Given the description of an element on the screen output the (x, y) to click on. 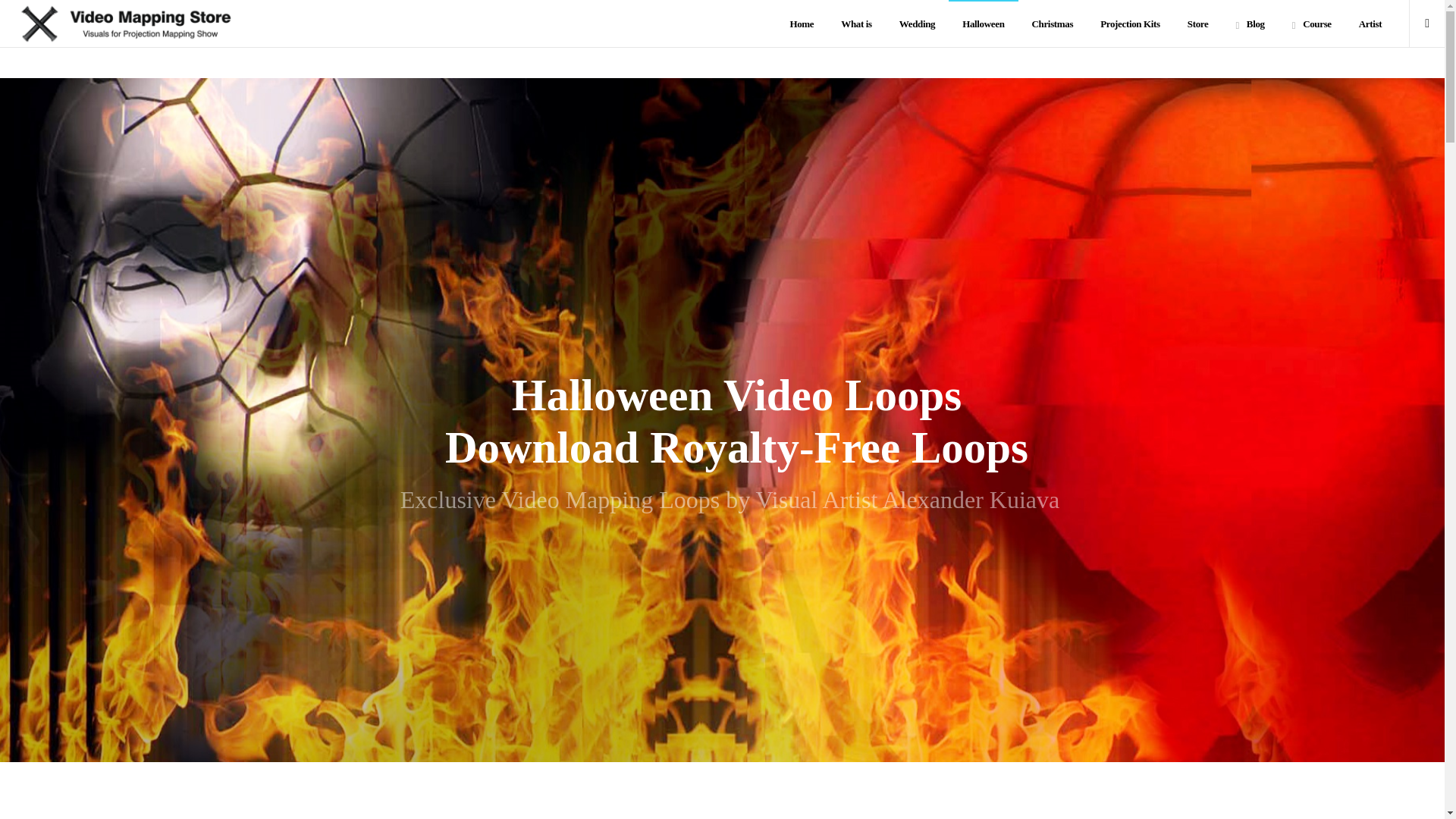
Search (1072, 413)
Site logo (124, 23)
Projection Kits (1130, 23)
